Given the description of an element on the screen output the (x, y) to click on. 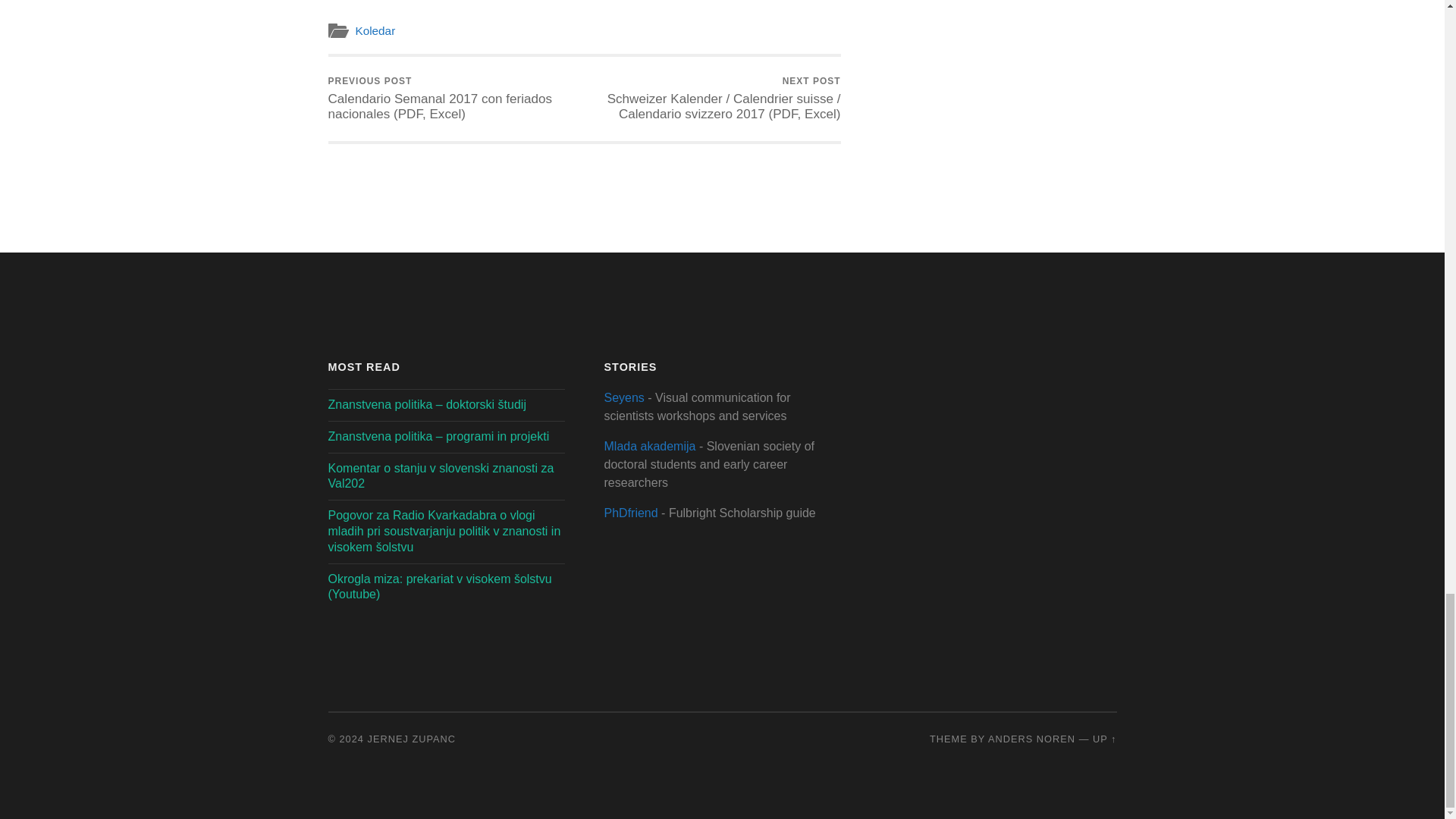
To the top (1104, 738)
Seyens (623, 397)
JERNEJ ZUPANC (412, 738)
ANDERS NOREN (1031, 738)
Komentar o stanju v slovenski znanosti za Val202 (440, 475)
Mlada akademija (649, 445)
PhDfriend (631, 512)
Koledar (374, 30)
